Given the description of an element on the screen output the (x, y) to click on. 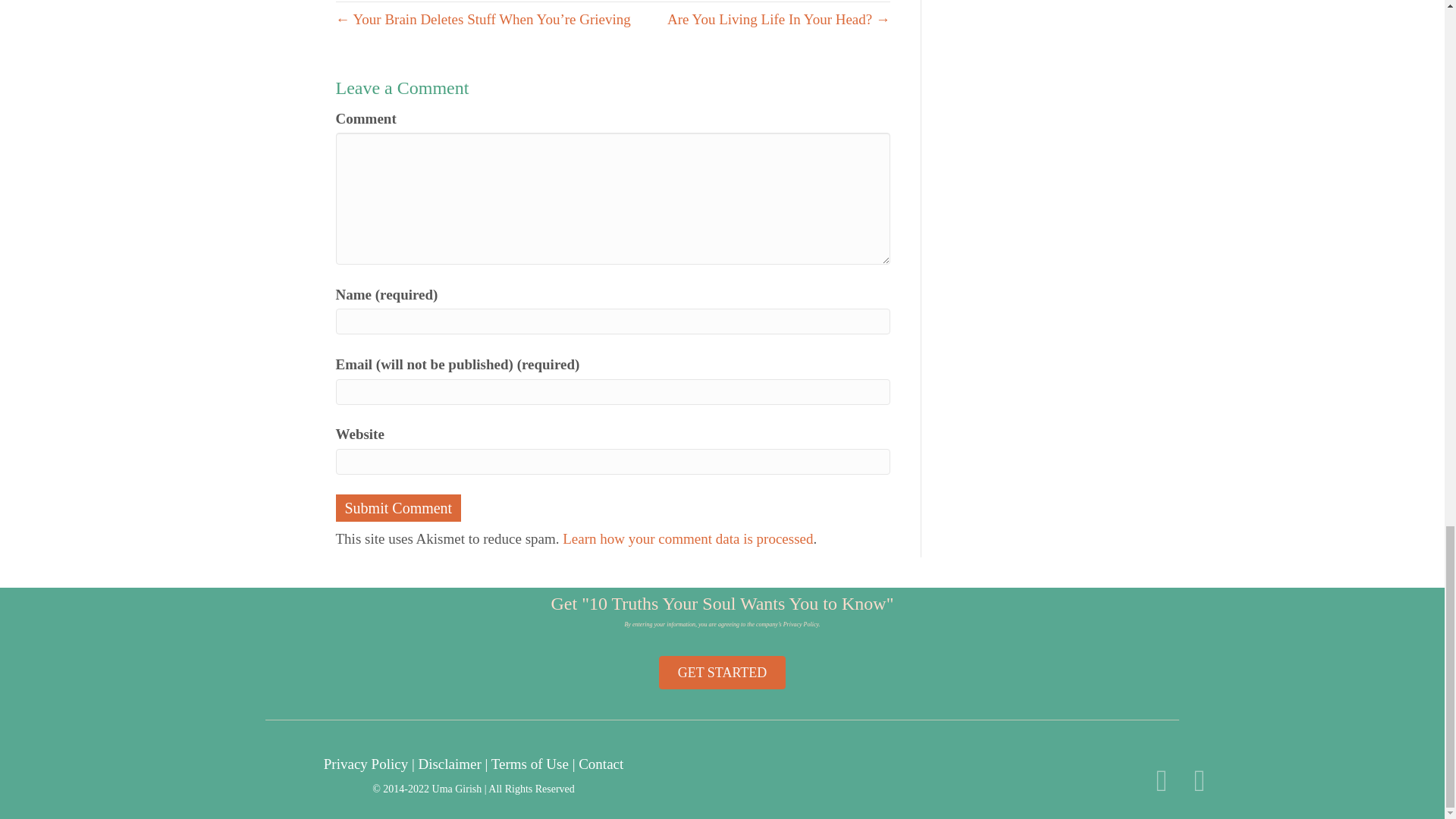
Submit Comment (397, 507)
Learn how your comment data is processed (687, 538)
Click Here (722, 672)
Submit Comment (397, 507)
